Given the description of an element on the screen output the (x, y) to click on. 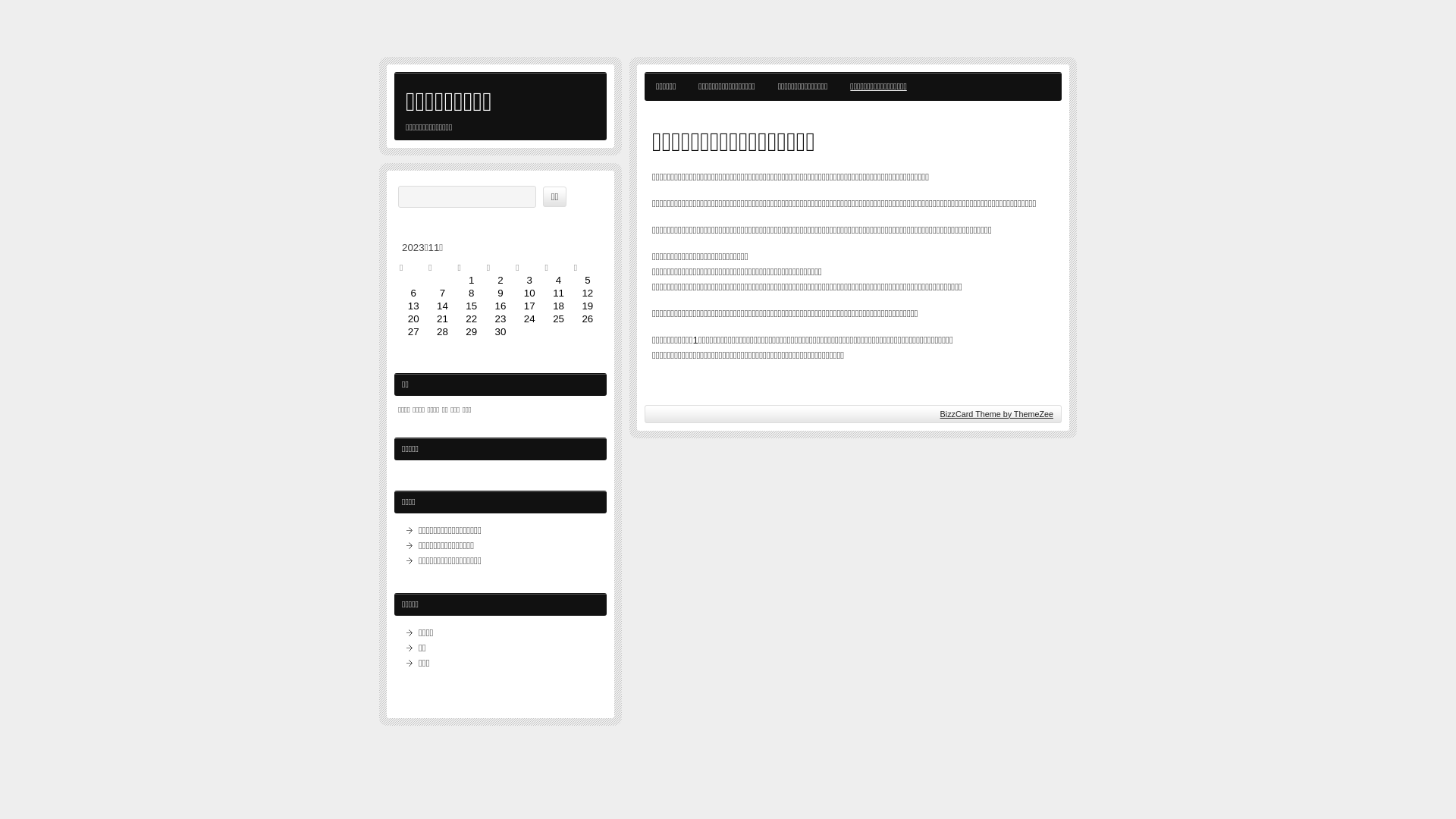
BizzCard Theme by ThemeZee Element type: text (996, 413)
